Given the description of an element on the screen output the (x, y) to click on. 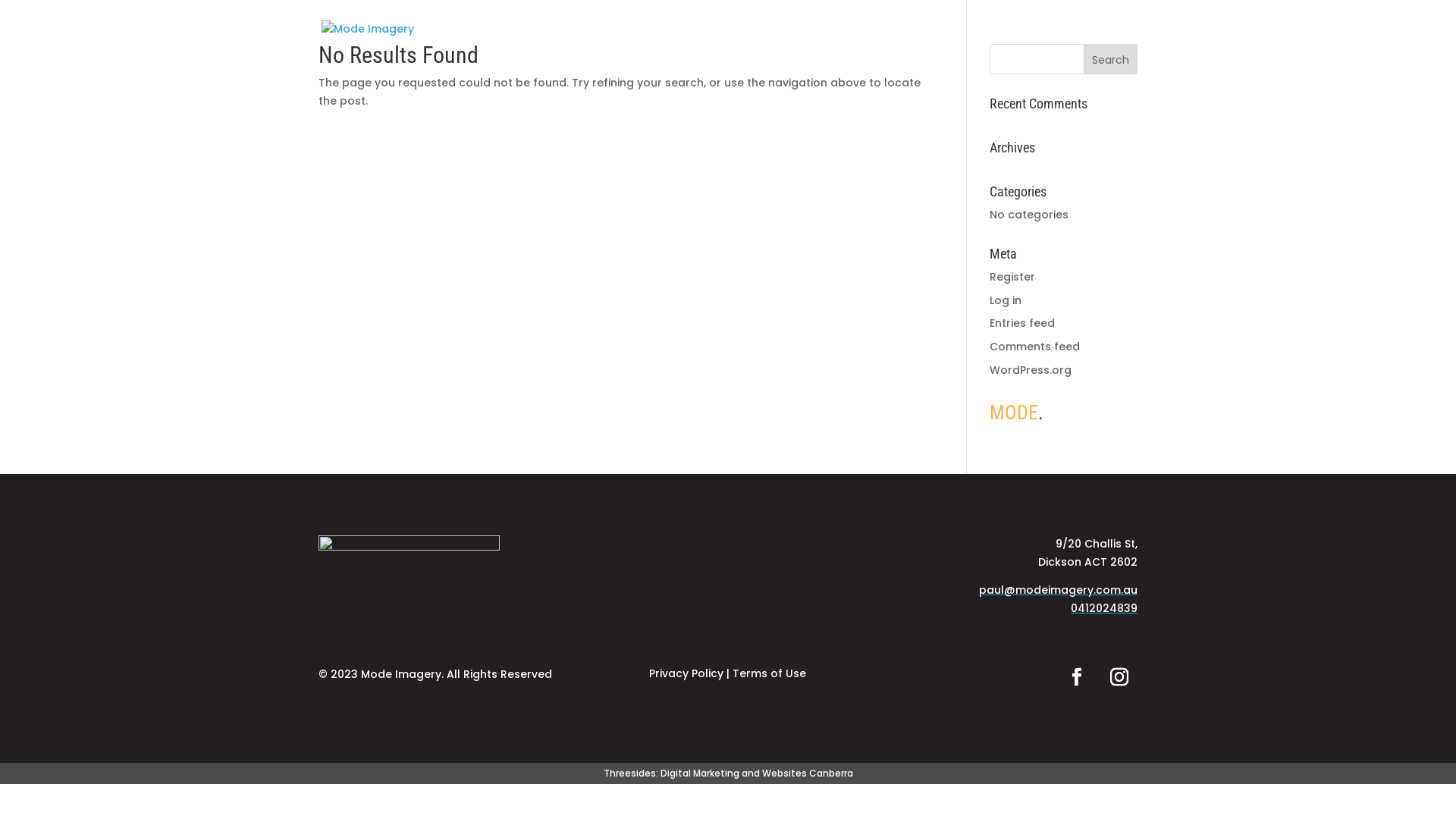
Follow on Instagram Element type: hover (1119, 676)
STORIES Element type: text (998, 42)
paul@modeimagery.com.au Element type: text (1058, 589)
CONTACT US Element type: text (1072, 42)
WHAT WE SHOOT Element type: text (905, 42)
ABOUT MODE Element type: text (798, 42)
Comments feed Element type: text (1034, 346)
Search Element type: text (1110, 58)
WordPress.org Element type: text (1030, 369)
Asset 2 Element type: hover (408, 576)
0412024839 Element type: text (1103, 607)
Follow on Facebook Element type: hover (1076, 676)
Register Element type: text (1012, 276)
Log in Element type: text (1005, 299)
Privacy Policy Element type: text (686, 672)
Terms of Use Element type: text (769, 672)
Entries feed Element type: text (1021, 322)
Threesides: Digital Marketing and Websites Canberra Element type: text (728, 772)
